Given the description of an element on the screen output the (x, y) to click on. 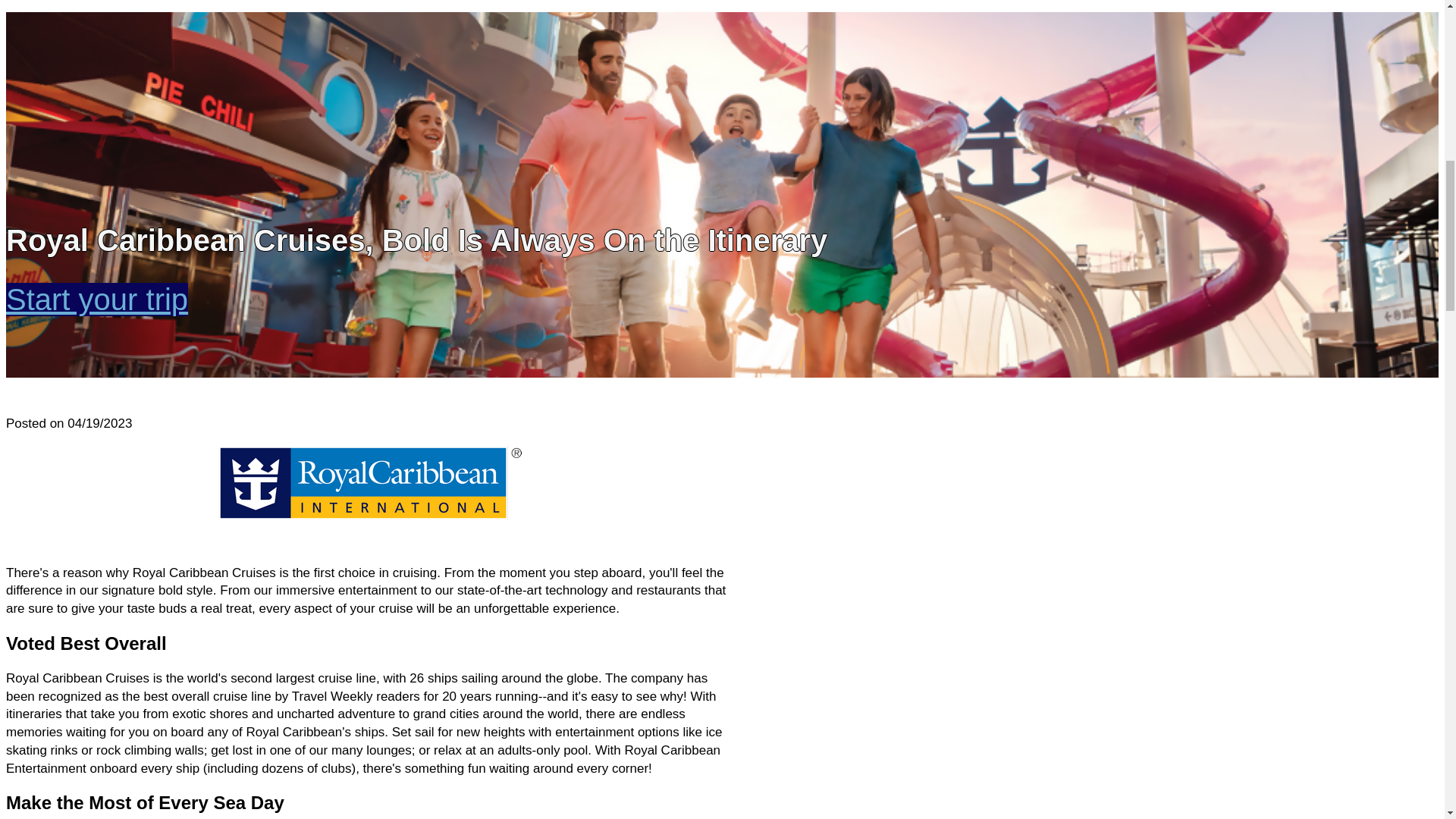
Start your trip (96, 299)
